Given the description of an element on the screen output the (x, y) to click on. 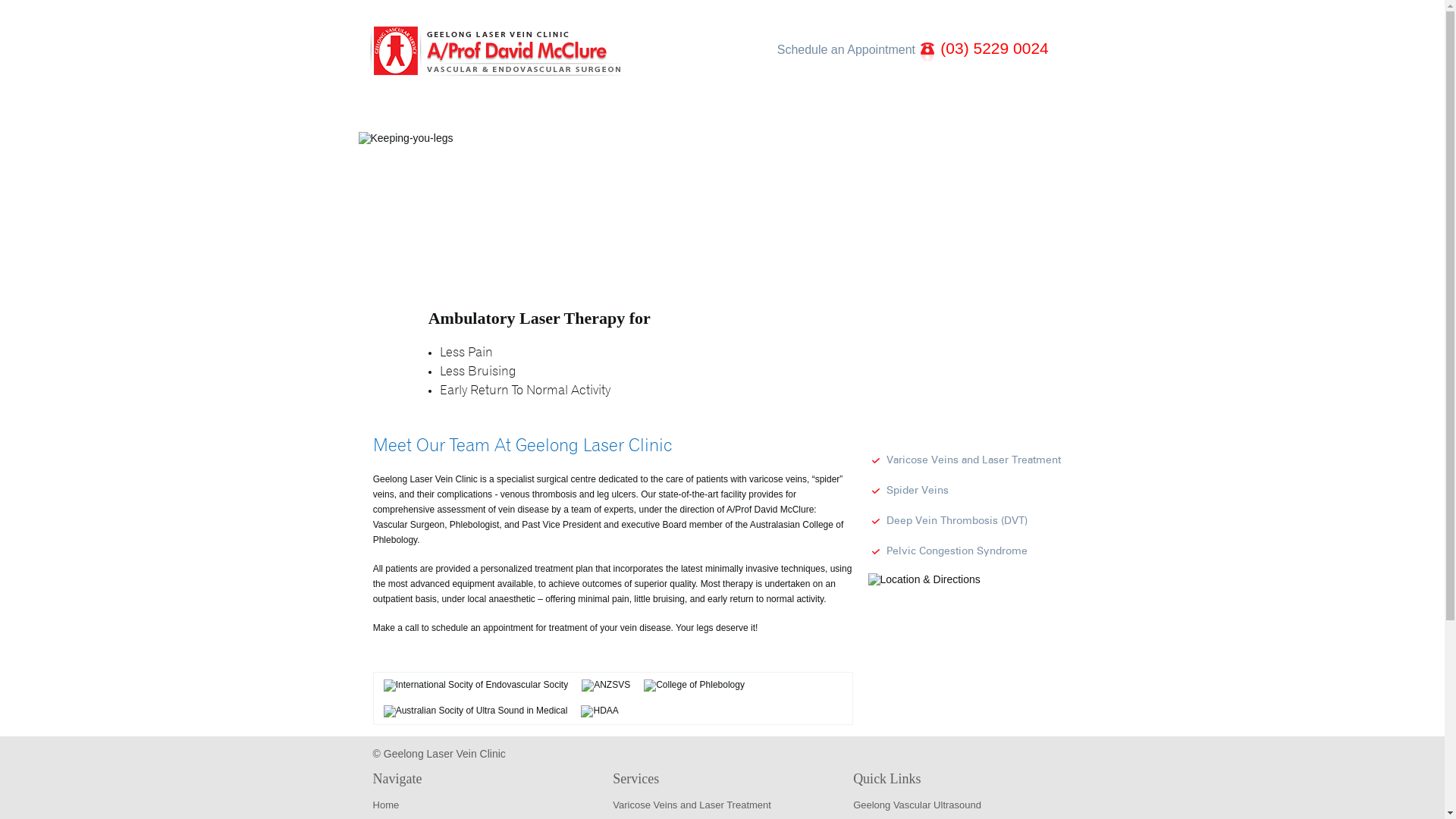
Geelong Vascular Ultrasound Element type: text (917, 804)
Home Element type: text (386, 804)
Varicose Veins and Laser Treatment Element type: text (691, 804)
Pelvic Congestion Syndrome Element type: text (946, 548)
Home Element type: text (408, 117)
Deep Vein Thrombosis (DVT) Element type: text (946, 518)
(03) 5229 0024 Element type: text (991, 47)
About Our Treatments Element type: text (758, 117)
About Geelong Laser Vein Clinic Element type: text (569, 117)
Varicose Veins and Laser Treatment Element type: text (963, 457)
Spider Veins Element type: text (907, 487)
FAQs Element type: text (889, 117)
Current News Element type: text (1005, 117)
